Given the description of an element on the screen output the (x, y) to click on. 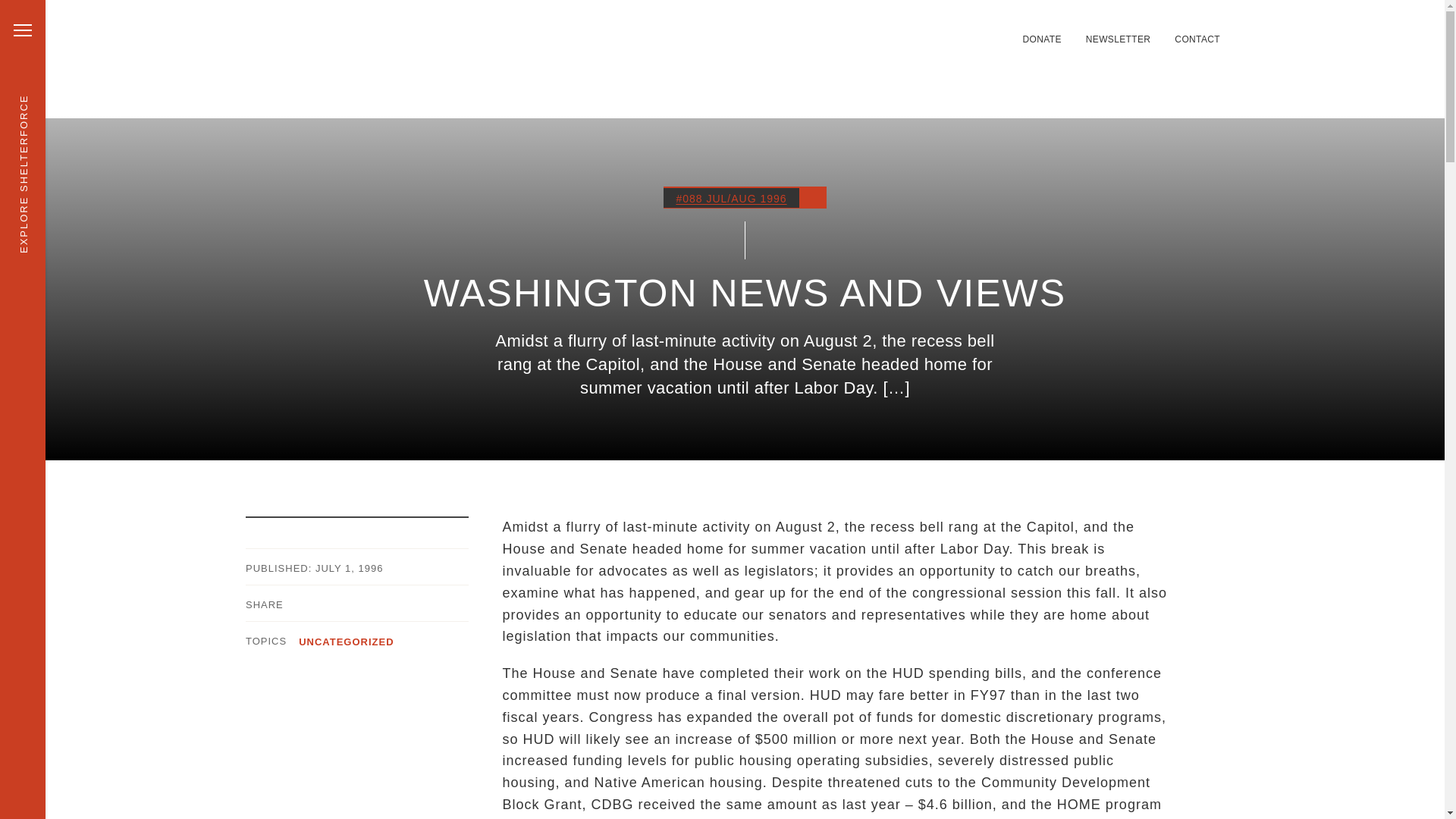
NEWSLETTER (1118, 39)
Follow us on Twitter (897, 30)
Follow us on Soundcloud (969, 30)
Follow us on LinkedIn (915, 30)
Follow us on Facebook (933, 30)
Shelterforce (431, 58)
Follow us on Spotify (951, 30)
CONTACT (1197, 39)
Follow us on YouTube (988, 30)
DONATE (1041, 39)
